Given the description of an element on the screen output the (x, y) to click on. 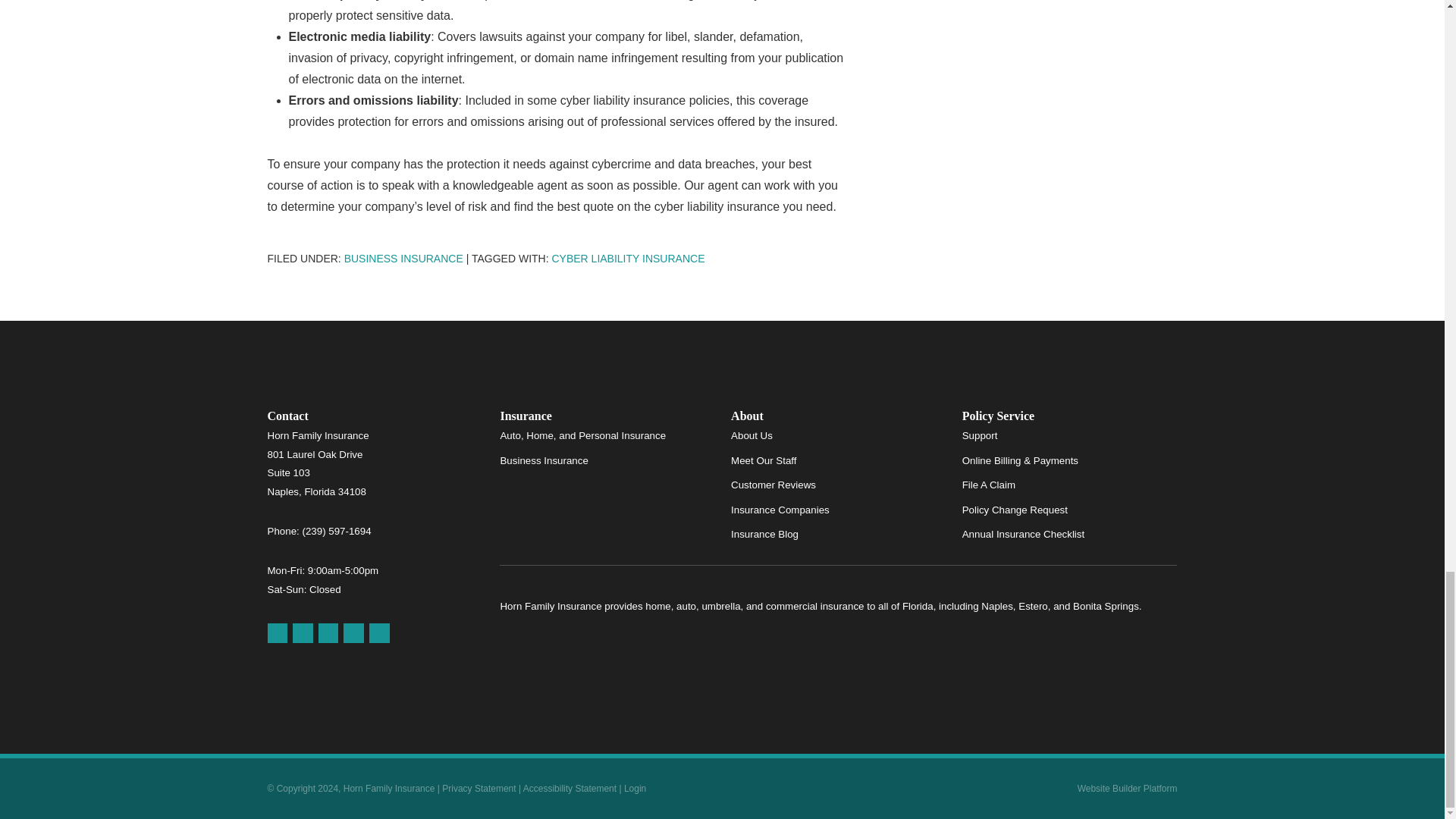
Google Maps (276, 633)
Facebook (302, 633)
LinkedIn (353, 633)
Instagram (379, 633)
Cyber Liability Insurance (627, 258)
Business Insurance (403, 258)
X (328, 633)
